Given the description of an element on the screen output the (x, y) to click on. 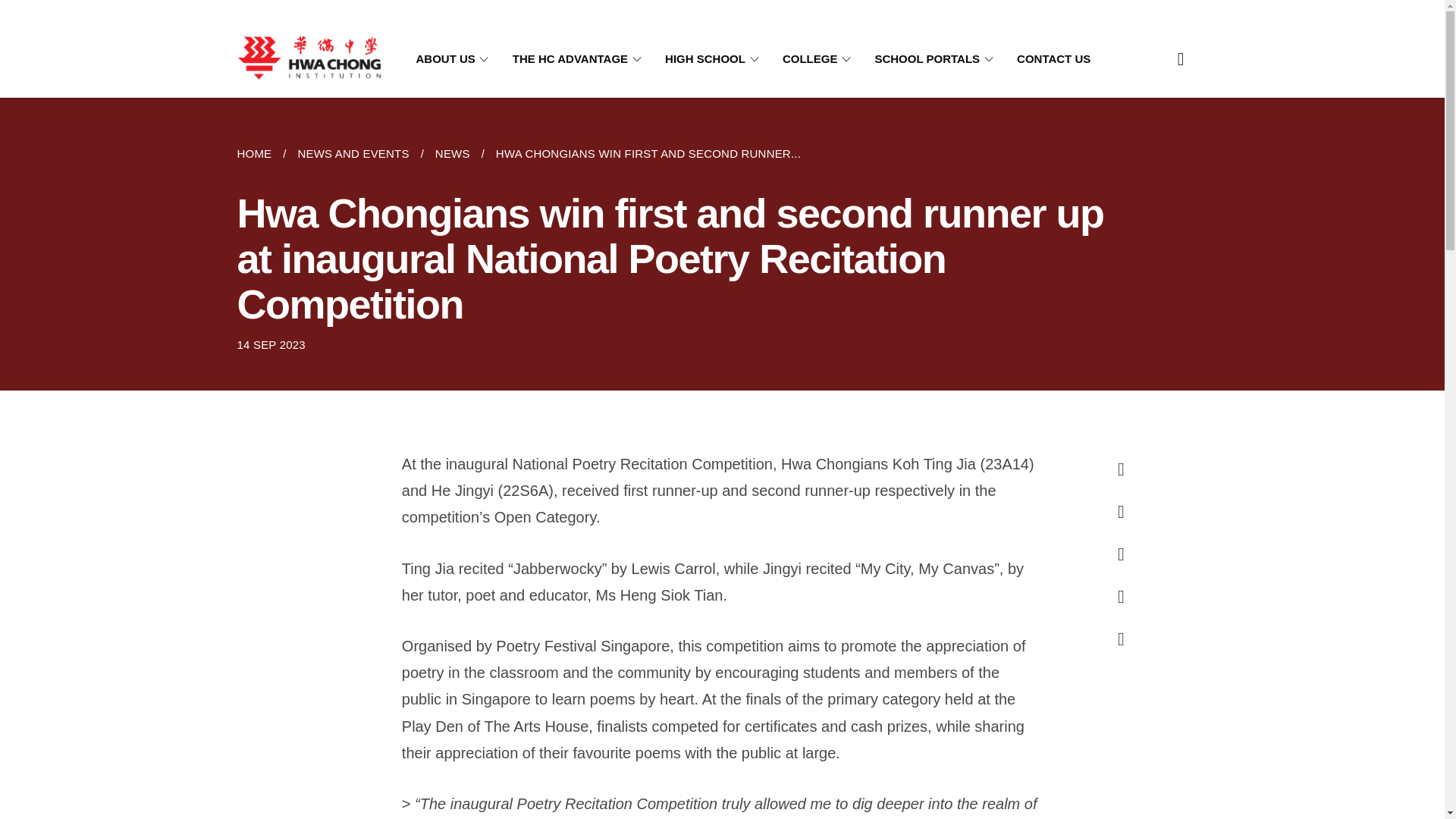
SCHOOL PORTALS (936, 59)
ABOUT US (453, 59)
COLLEGE (820, 59)
THE HC ADVANTAGE (579, 59)
CONTACT US (1053, 59)
HIGH SCHOOL (714, 59)
